Given the description of an element on the screen output the (x, y) to click on. 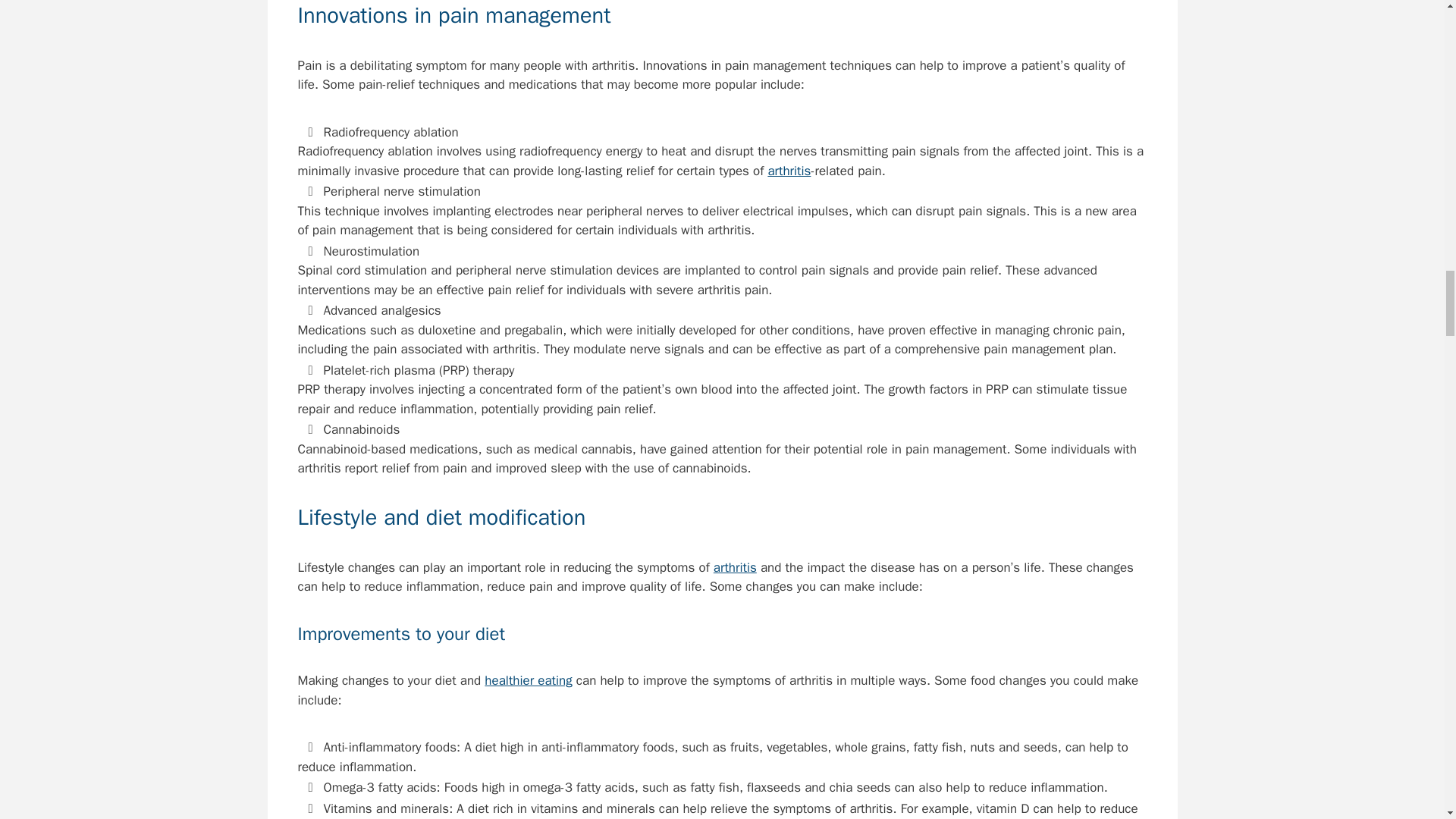
healthier eating (528, 680)
arthritis (735, 567)
arthritis (788, 170)
